Given the description of an element on the screen output the (x, y) to click on. 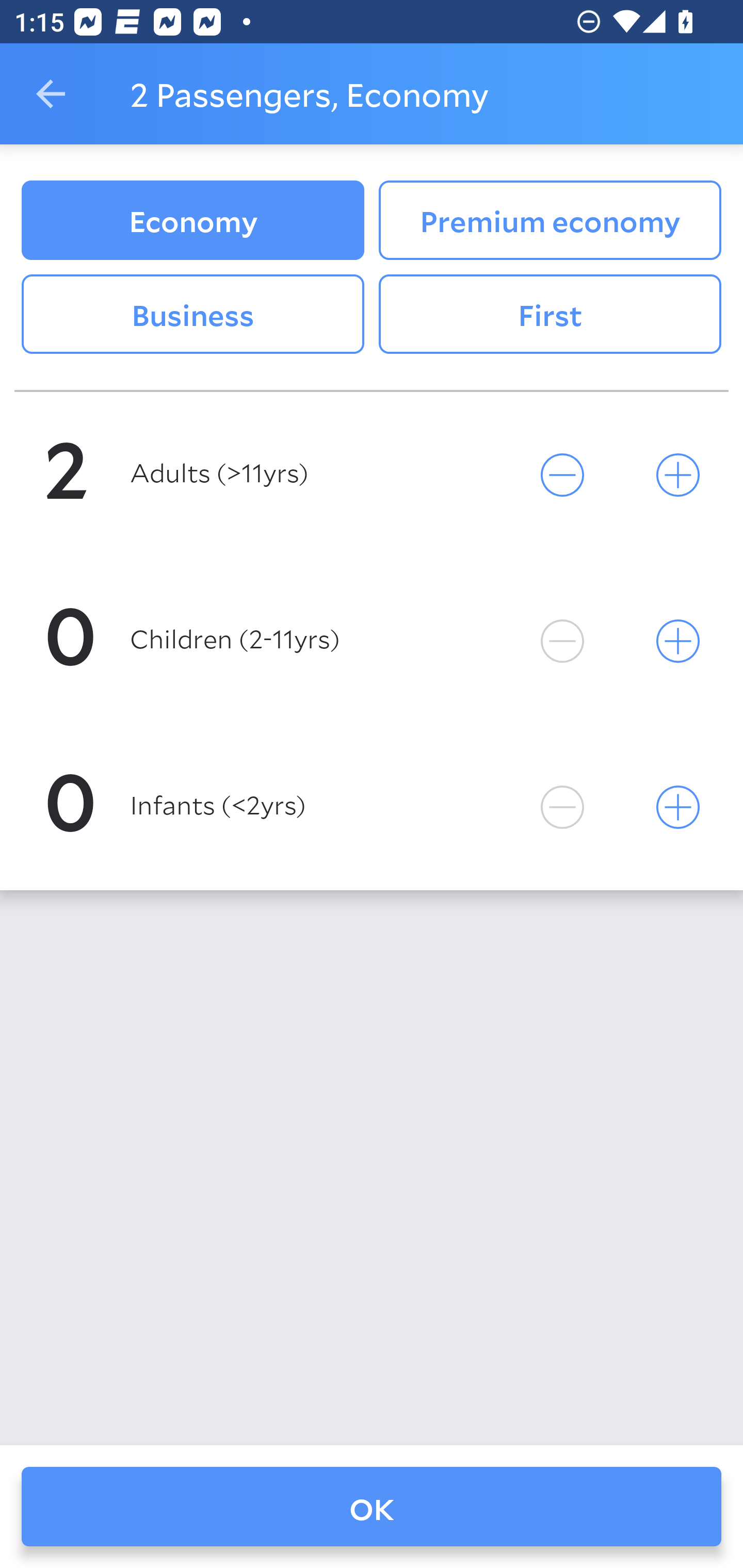
Navigate up (50, 93)
Economy (192, 220)
Premium economy (549, 220)
Business (192, 314)
First (549, 314)
OK (371, 1506)
